Given the description of an element on the screen output the (x, y) to click on. 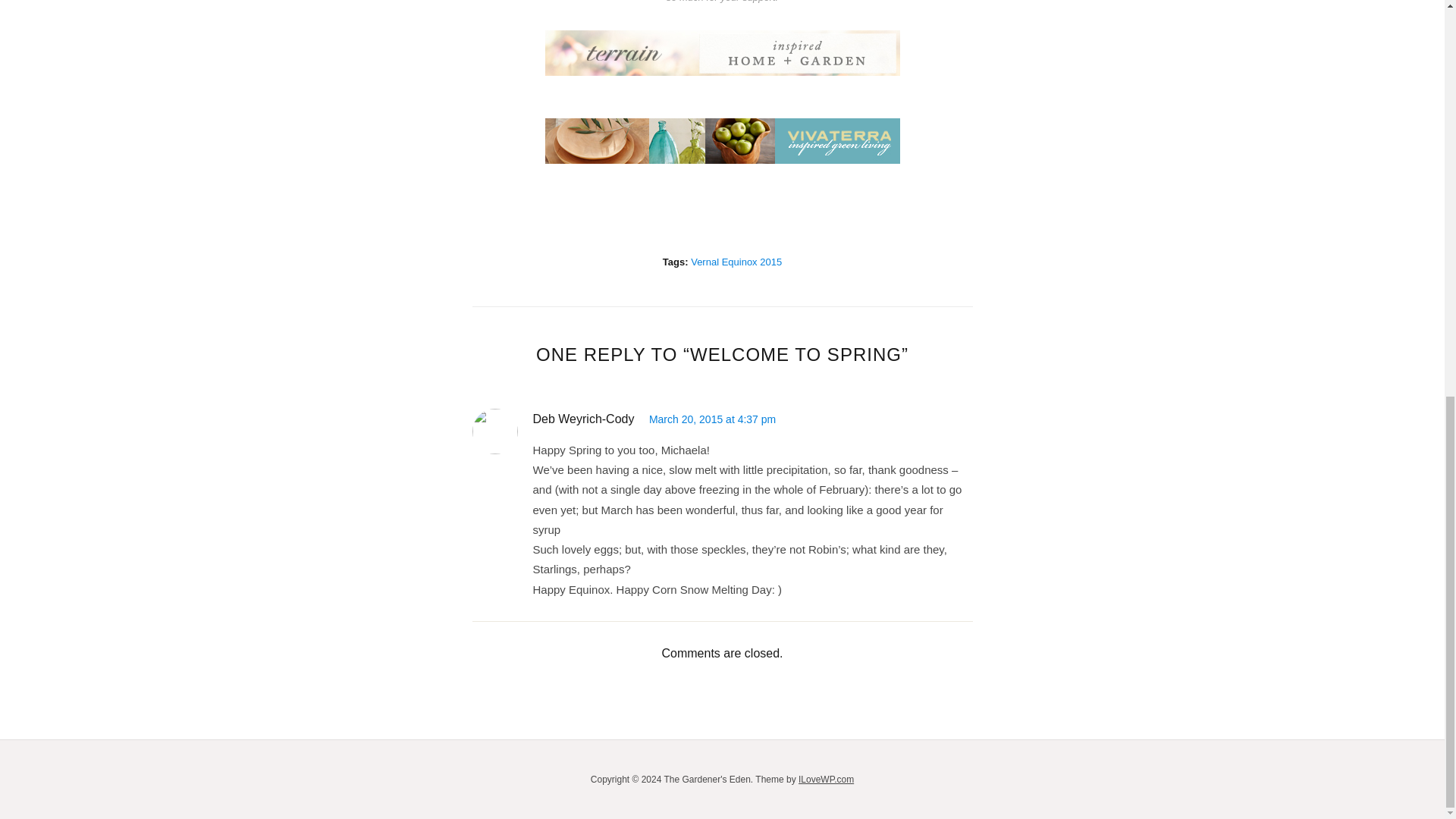
ILoveWP.com (825, 778)
March 20, 2015 at 4:37 pm (712, 419)
Vernal Equinox 2015 (735, 261)
